Given the description of an element on the screen output the (x, y) to click on. 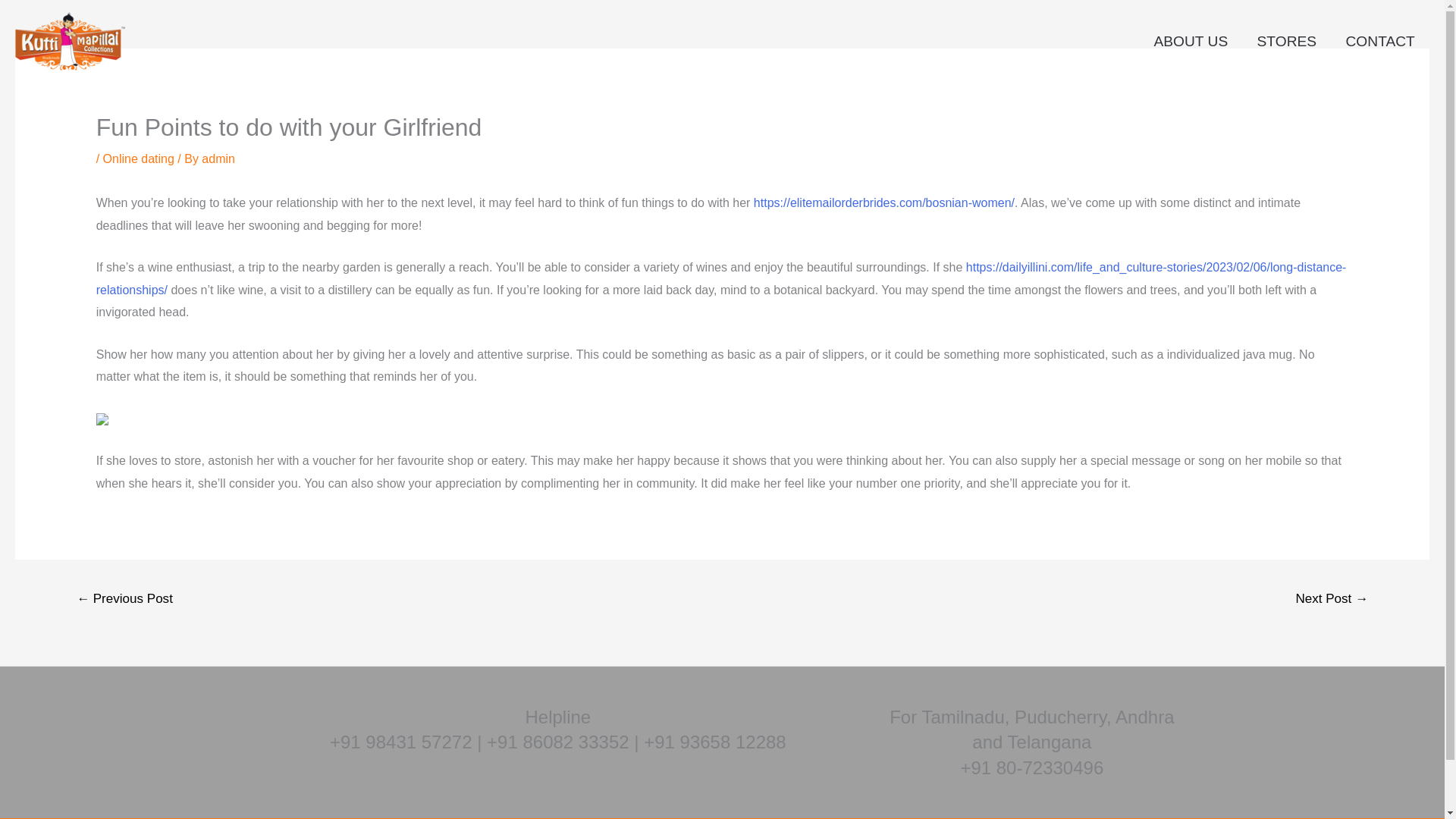
Online dating (138, 158)
CONTACT (1379, 41)
STORES (1285, 41)
View all posts by admin (218, 158)
admin (218, 158)
ABOUT US (1189, 41)
